Given the description of an element on the screen output the (x, y) to click on. 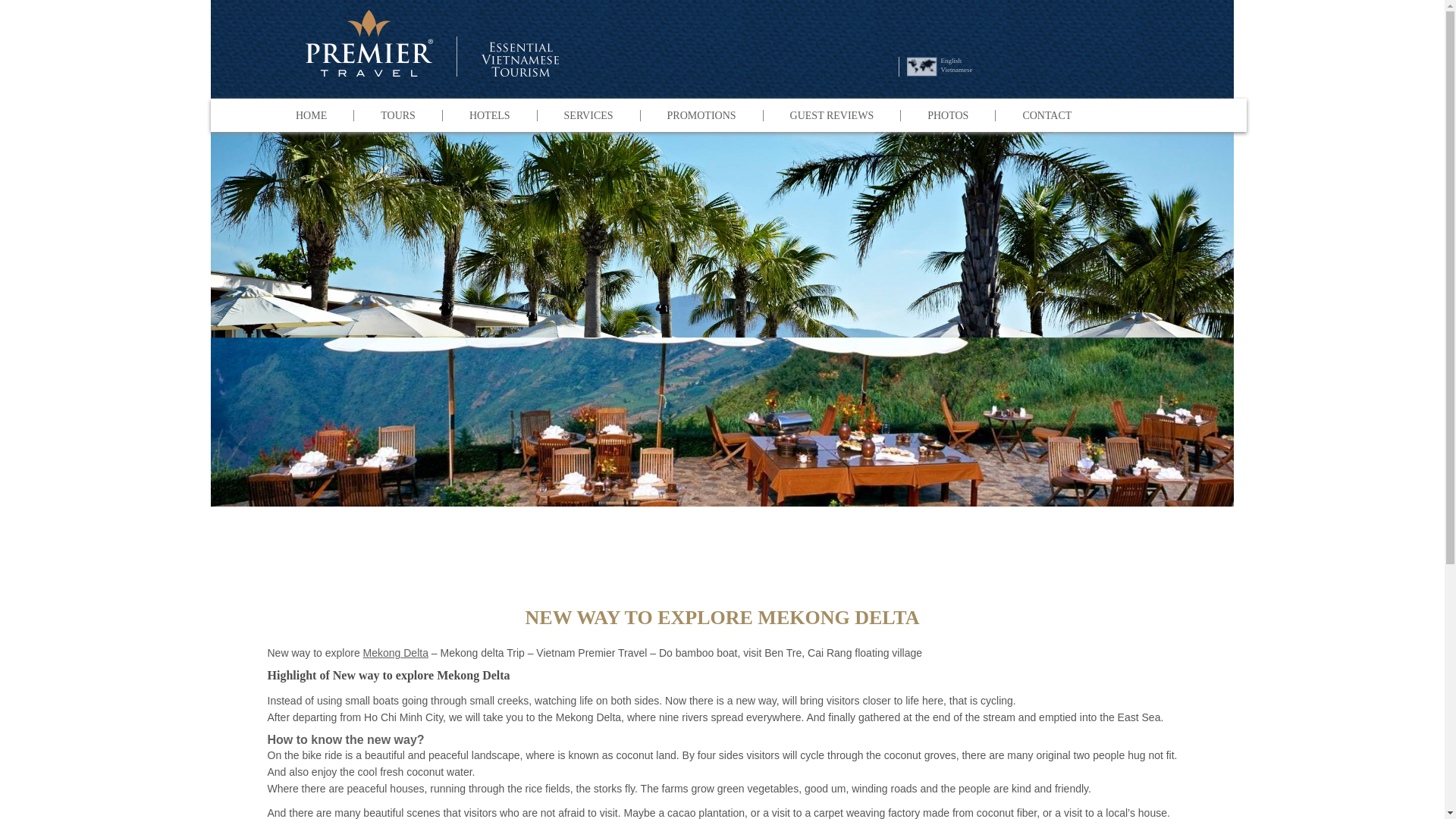
GUEST REVIEWS (831, 115)
Mekong Delta (395, 653)
HOME (311, 115)
PHOTOS (946, 115)
English (951, 60)
SERVICES (588, 115)
PROMOTIONS (701, 115)
HOTELS (489, 115)
TOURS (397, 115)
Vietnamese (956, 69)
